Given the description of an element on the screen output the (x, y) to click on. 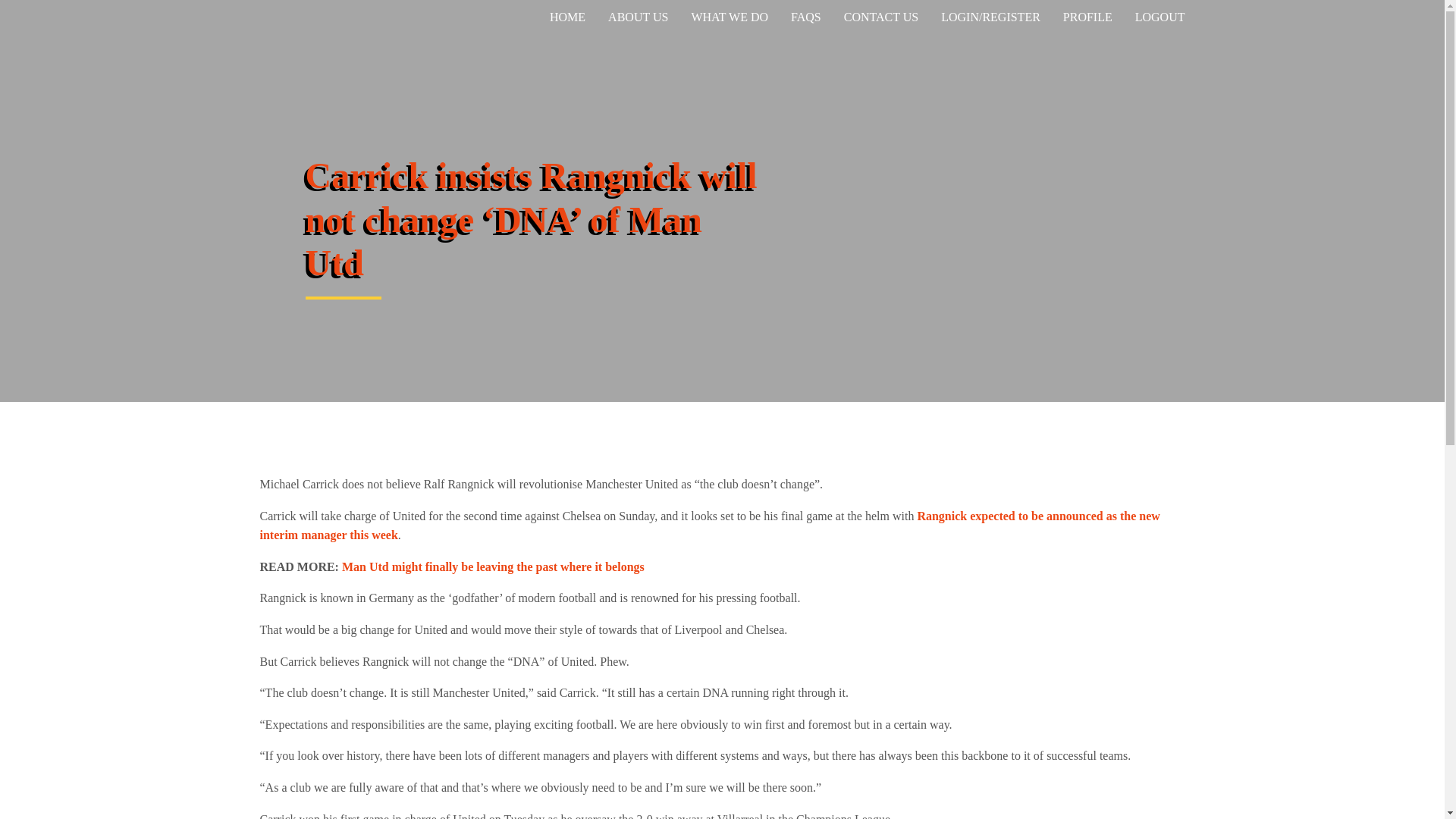
LOGOUT (1160, 17)
PROFILE (1087, 17)
HOME (567, 17)
CONTACT US (881, 17)
Man Utd might finally be leaving the past where it belongs (493, 566)
ABOUT US (637, 17)
FAQS (805, 17)
WHAT WE DO (728, 17)
